Given the description of an element on the screen output the (x, y) to click on. 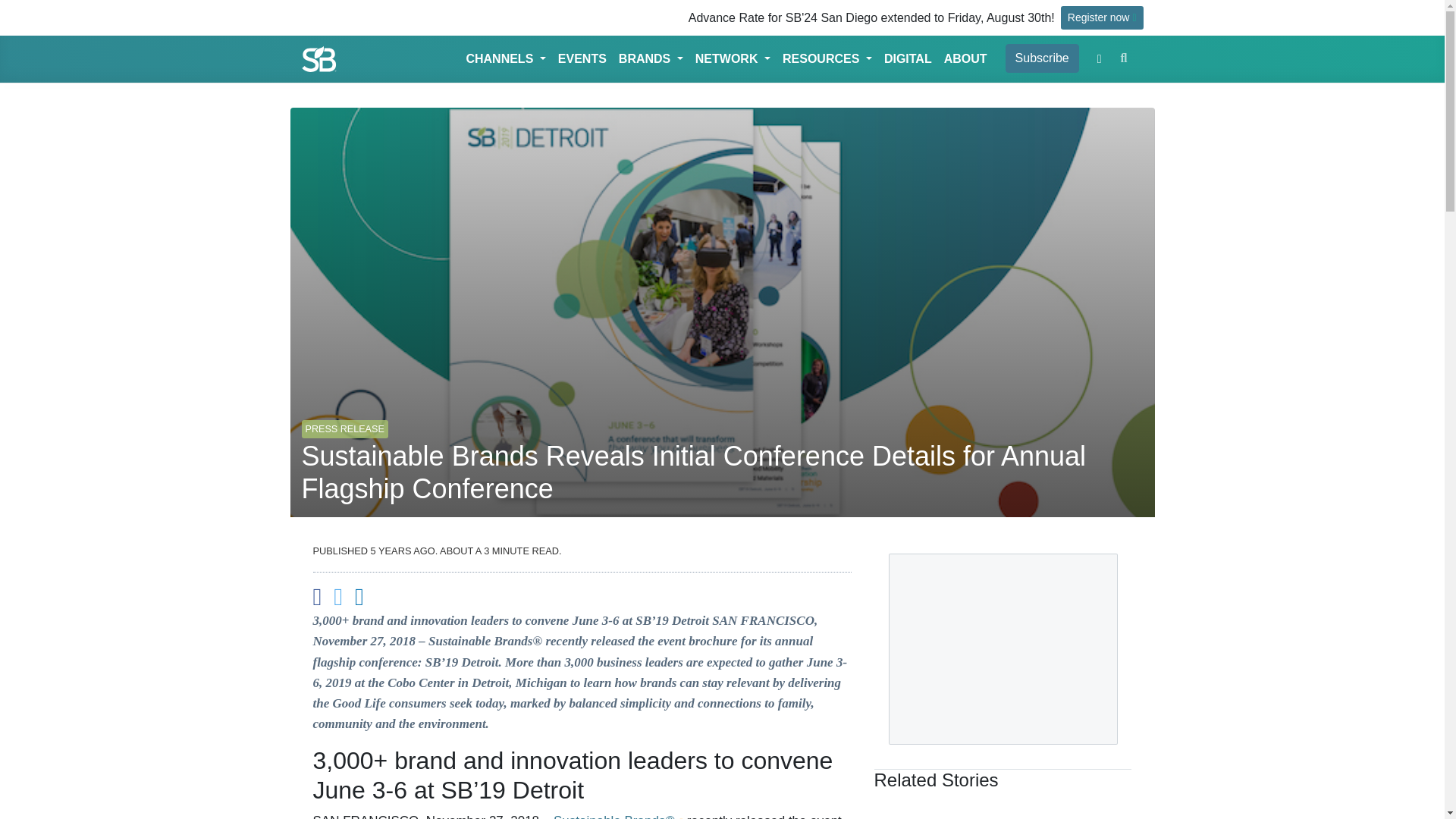
Register now (1101, 17)
NETWORK (732, 59)
EVENTS (581, 59)
BRANDS (650, 59)
ABOUT (964, 59)
DIGITAL (907, 59)
PRESS RELEASE (344, 422)
CHANNELS (505, 59)
Subscribe (1042, 58)
RESOURCES (826, 59)
